Given the description of an element on the screen output the (x, y) to click on. 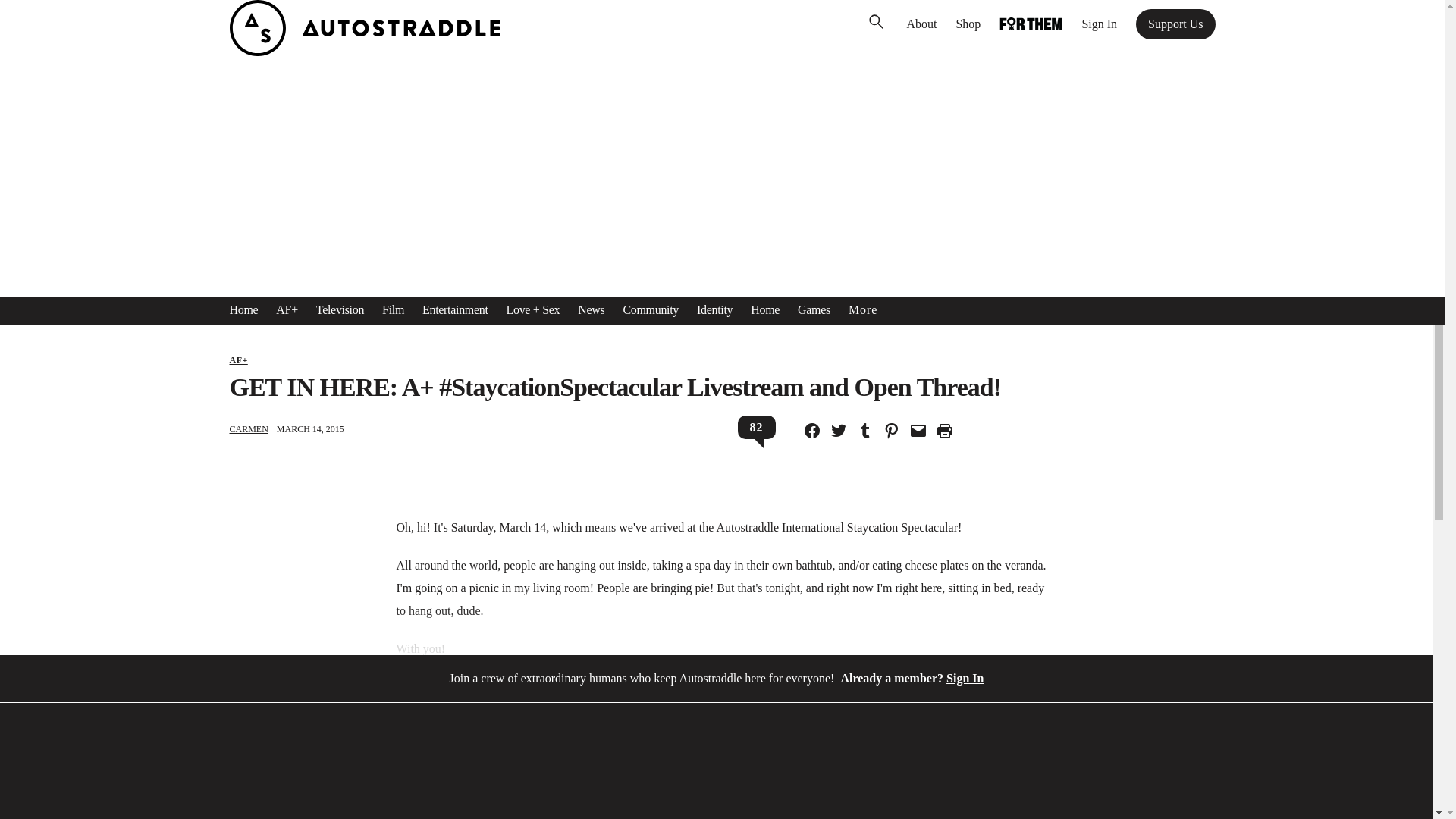
Search (34, 15)
Television (339, 310)
Sign In (1098, 24)
Home (242, 310)
Autostraddle (363, 51)
Shop (967, 24)
Posts by Carmen (247, 429)
